Given the description of an element on the screen output the (x, y) to click on. 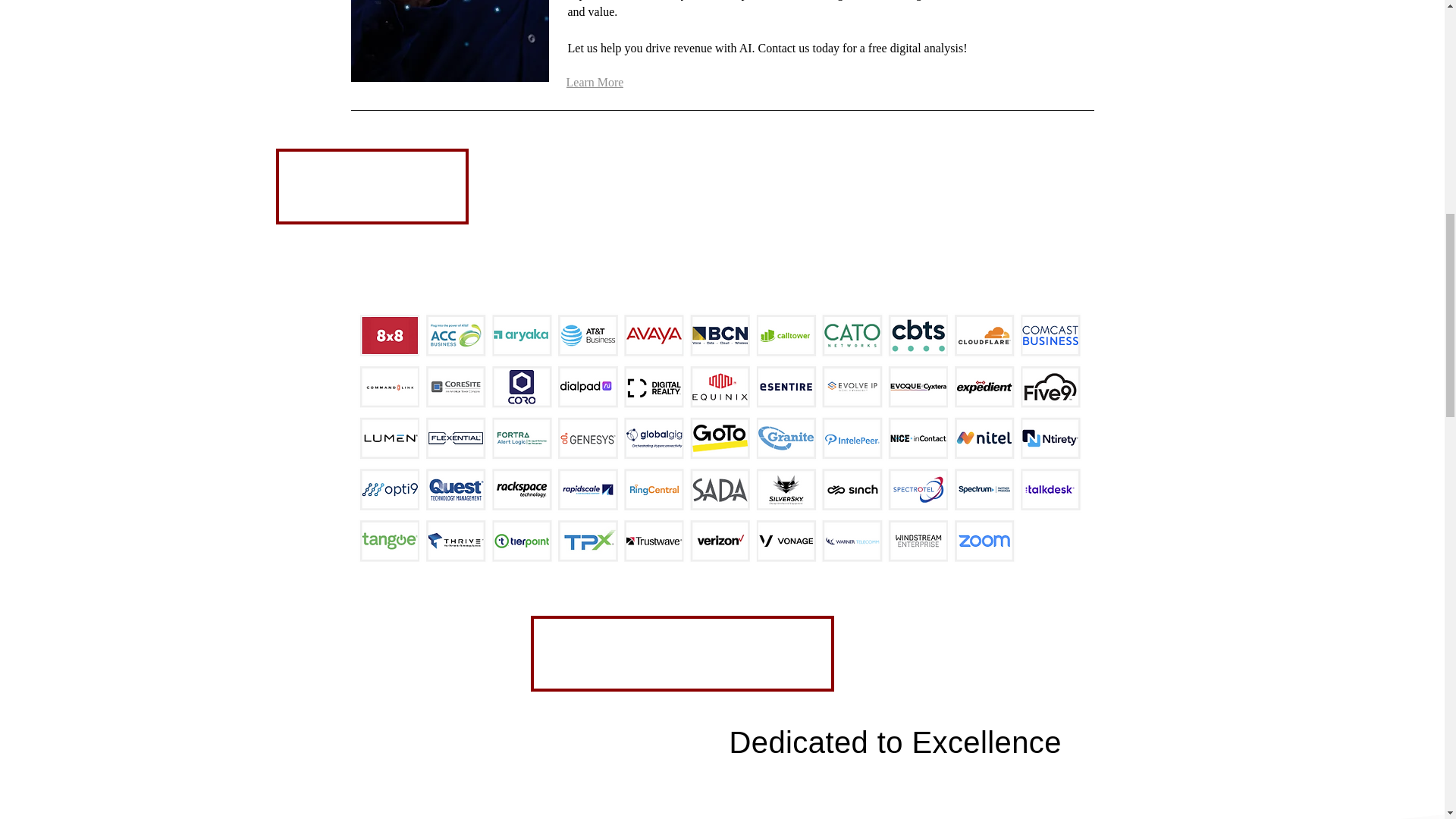
Learn More (619, 82)
Generative Artificial Intelligence (449, 40)
